Given the description of an element on the screen output the (x, y) to click on. 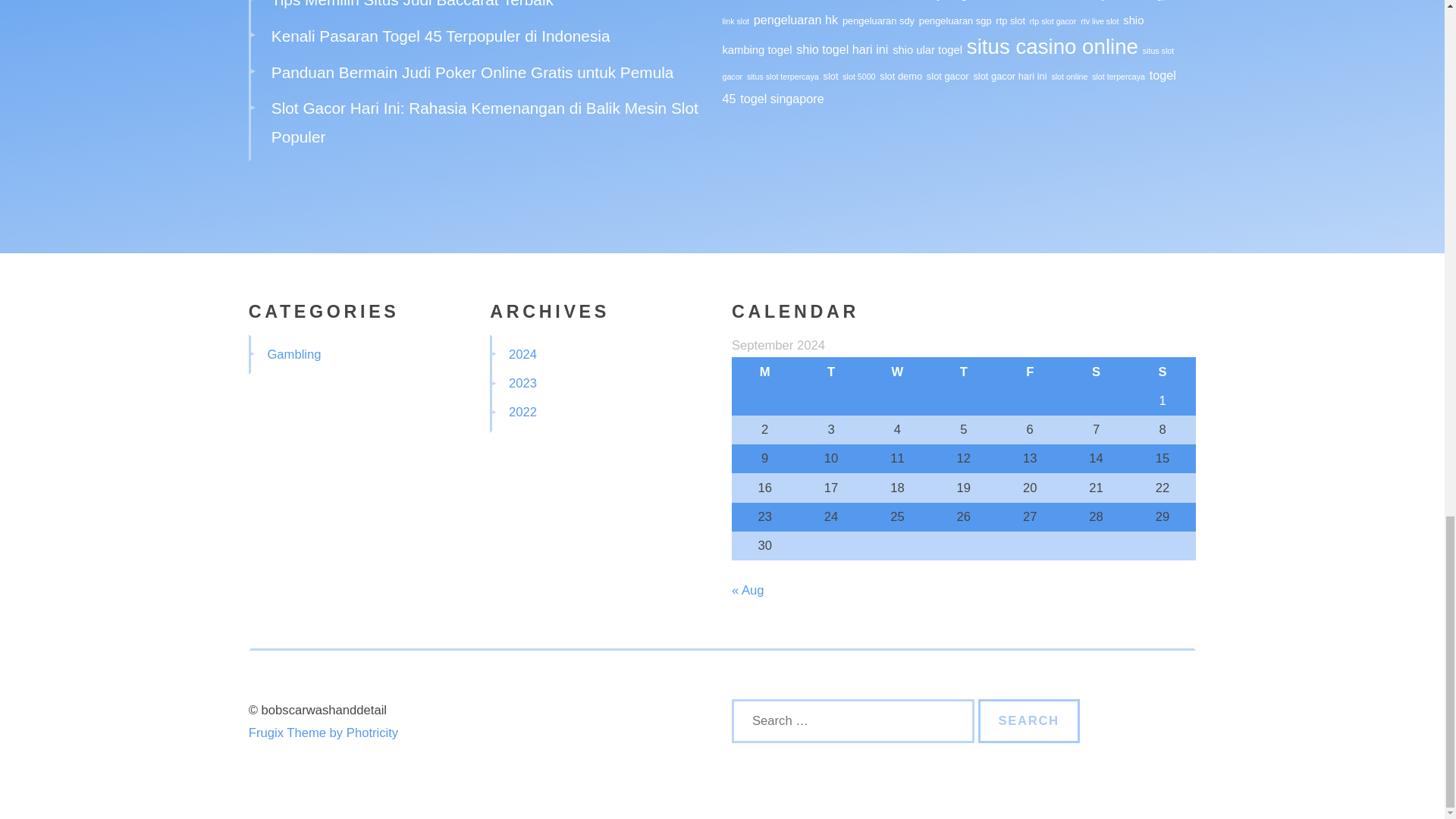
keluaran sdy (1074, 0)
rtp slot gacor (1053, 20)
Panduan Bermain Judi Poker Online Gratis untuk Pemula (472, 72)
Friday (1029, 371)
Monday (764, 371)
rtp slot (1010, 20)
pengeluaran hk (796, 19)
Tuesday (830, 371)
Saturday (1095, 371)
